Given the description of an element on the screen output the (x, y) to click on. 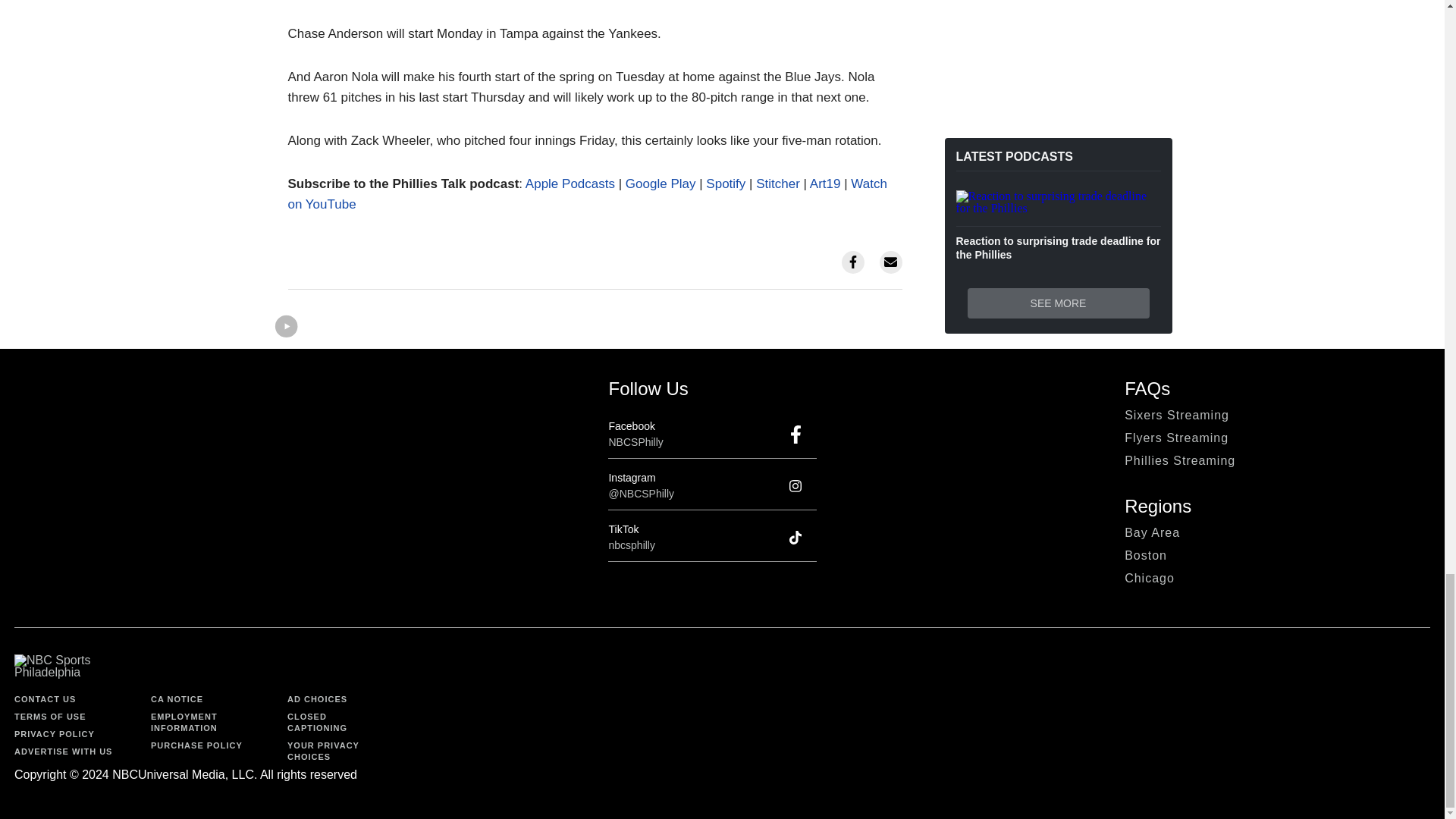
Watch on YouTube (587, 193)
Stitcher (777, 183)
Spotify (725, 183)
Apple Podcasts (569, 183)
Art19 (825, 183)
Google Play (660, 183)
